Given the description of an element on the screen output the (x, y) to click on. 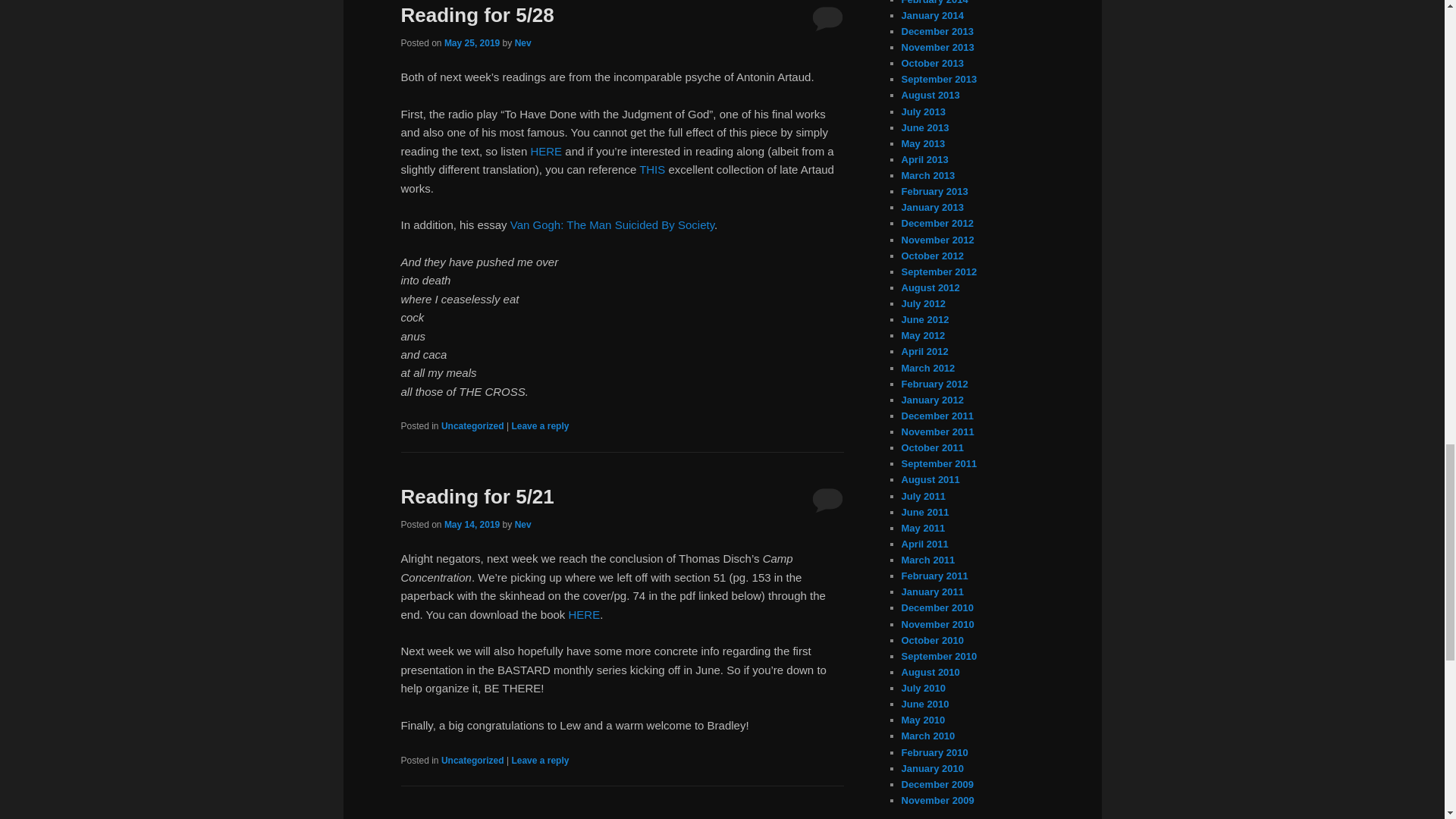
10:34 pm (471, 524)
THIS (652, 169)
May 25, 2019 (471, 42)
Uncategorized (472, 760)
HERE (584, 614)
Uncategorized (472, 425)
7:33 am (471, 42)
HERE (545, 151)
Van Gogh: The Man Suicided By Society (612, 224)
Nev (523, 42)
Leave a reply (540, 425)
Nev (523, 524)
May 14, 2019 (471, 524)
Leave a reply (540, 760)
View all posts by Nev (523, 524)
